Given the description of an element on the screen output the (x, y) to click on. 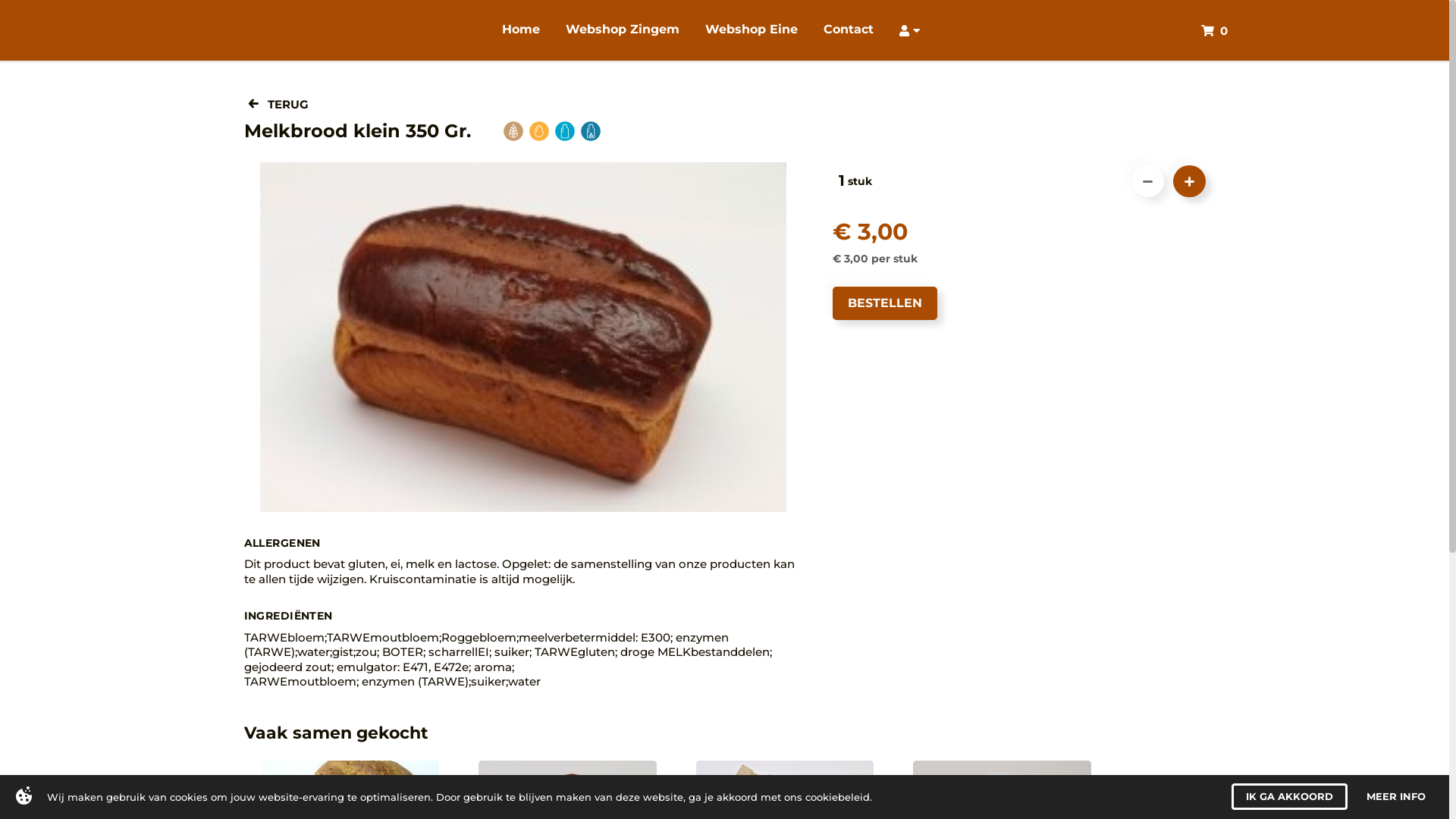
IK GA AKKOORD Element type: text (1289, 796)
Webshop Zingem Element type: text (622, 30)
MEER INFO Element type: text (1395, 796)
0 Element type: text (1214, 29)
Contact Element type: text (848, 30)
Webshop Eine Element type: text (751, 30)
Home Element type: text (520, 30)
